Given the description of an element on the screen output the (x, y) to click on. 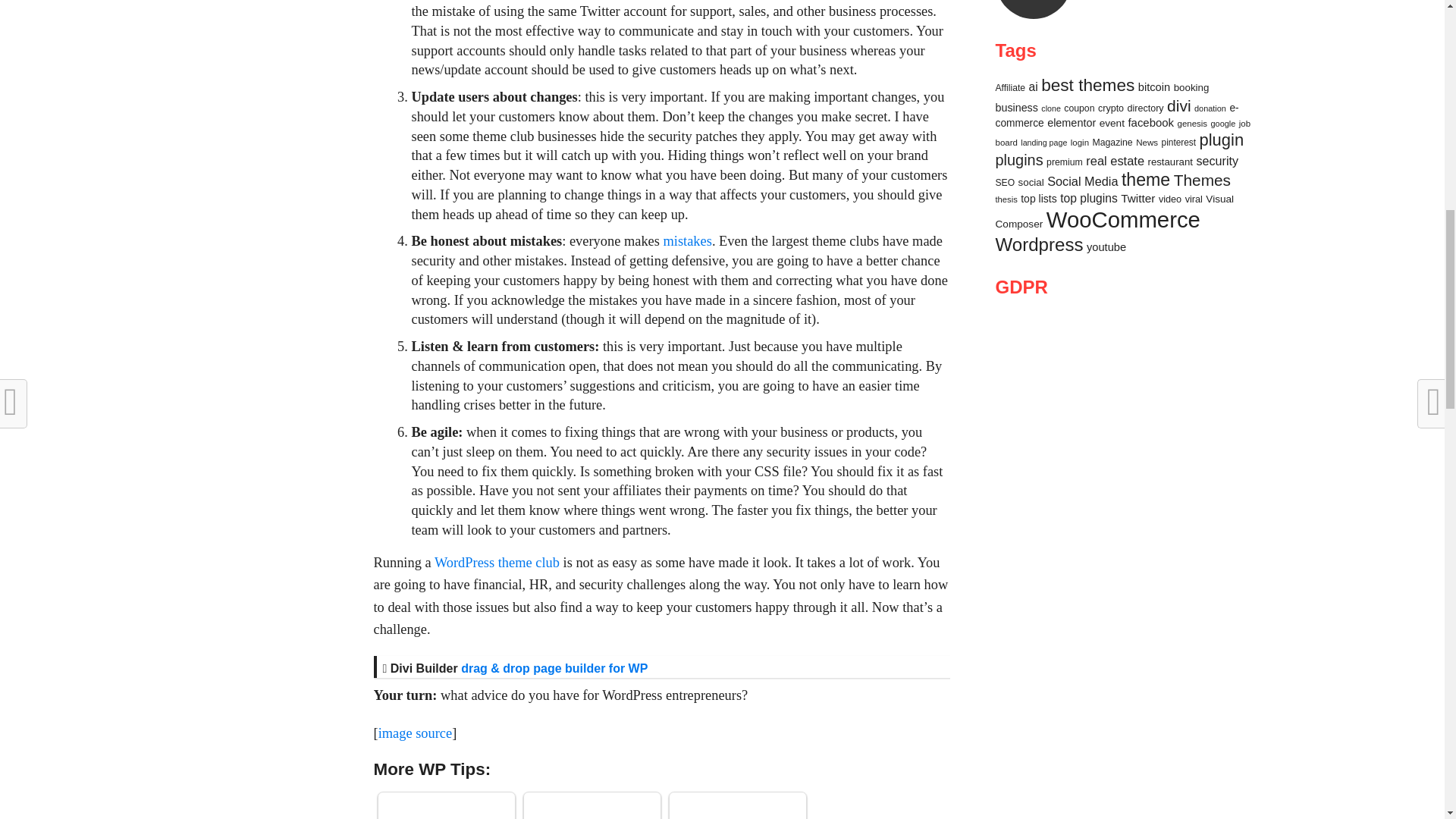
Paritime: WordPress Theme for Tennis Clubs (738, 807)
T.Joy Astronomy WordPress Theme (446, 807)
